Given the description of an element on the screen output the (x, y) to click on. 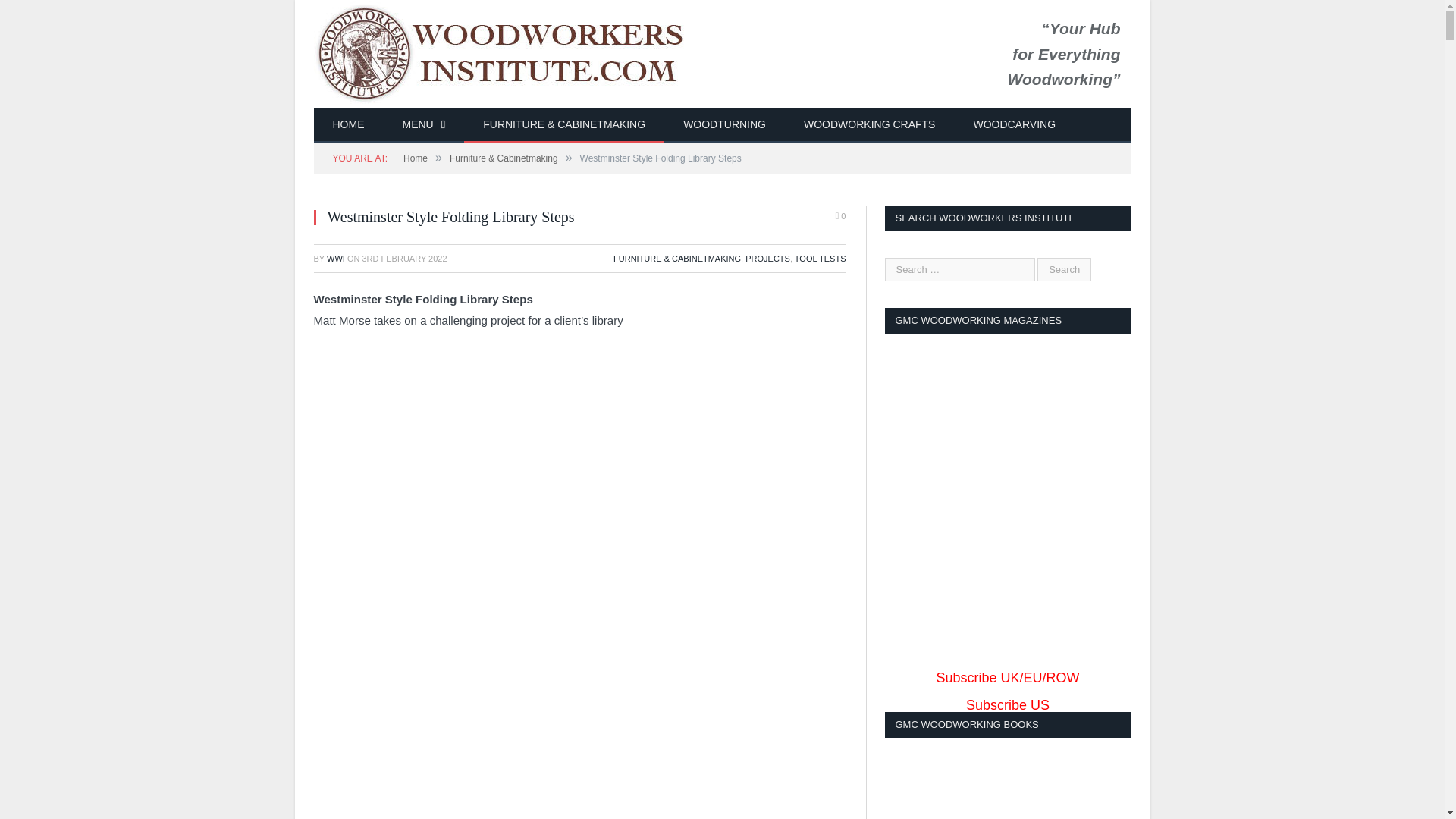
TOOL TESTS (819, 257)
Woodworkers Institute (525, 51)
WOODCARVING (1013, 125)
MENU (424, 125)
WOODTURNING (723, 125)
Home (415, 158)
WWI (335, 257)
Search (1063, 269)
PROJECTS (767, 257)
Search (1063, 269)
2022-02-03 (403, 257)
WOODWORKING CRAFTS (868, 125)
Posts by WWI (335, 257)
HOME (349, 125)
